Given the description of an element on the screen output the (x, y) to click on. 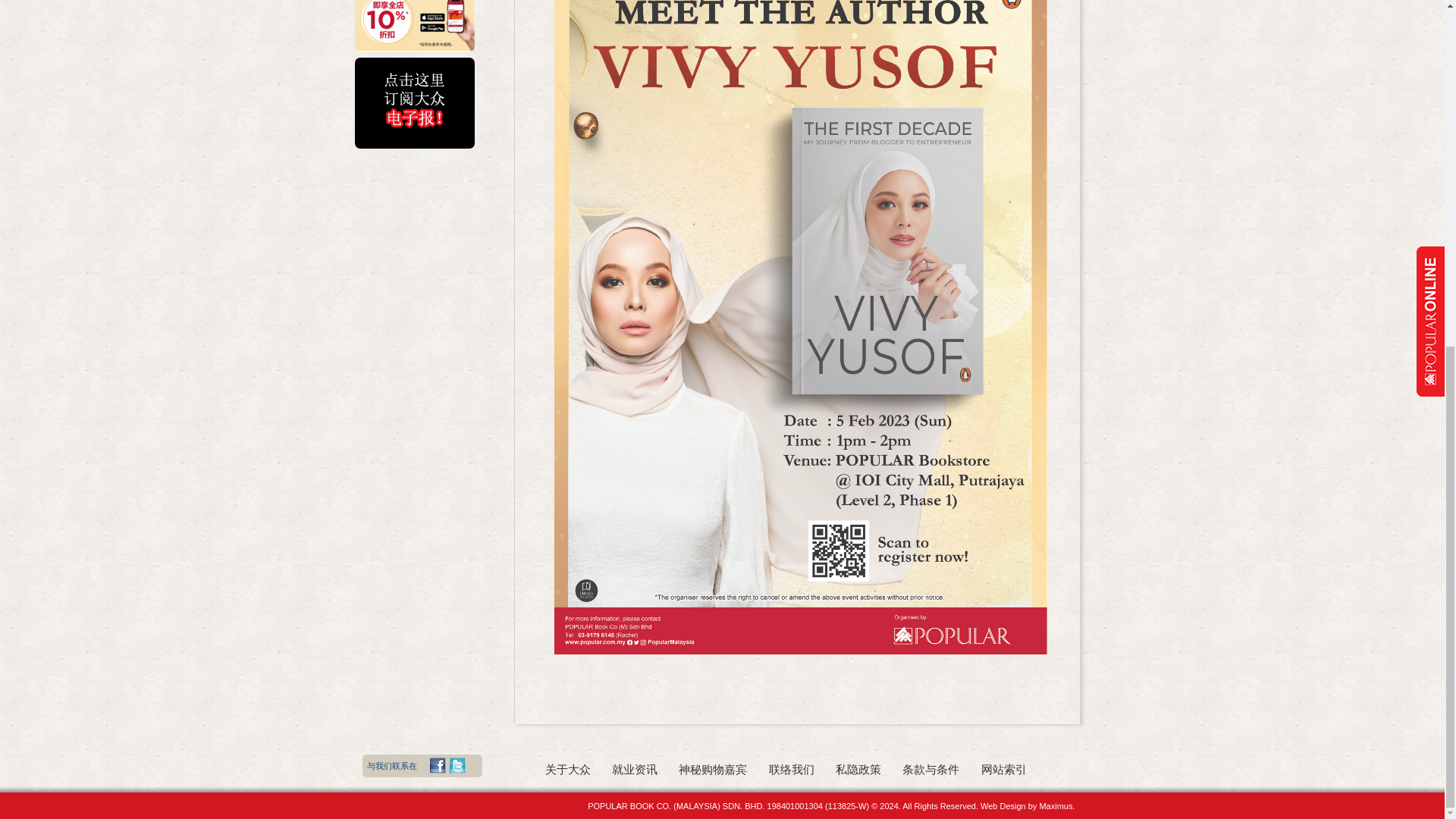
Web Design by Maximus. (1027, 805)
e-newsletter (414, 102)
